Given the description of an element on the screen output the (x, y) to click on. 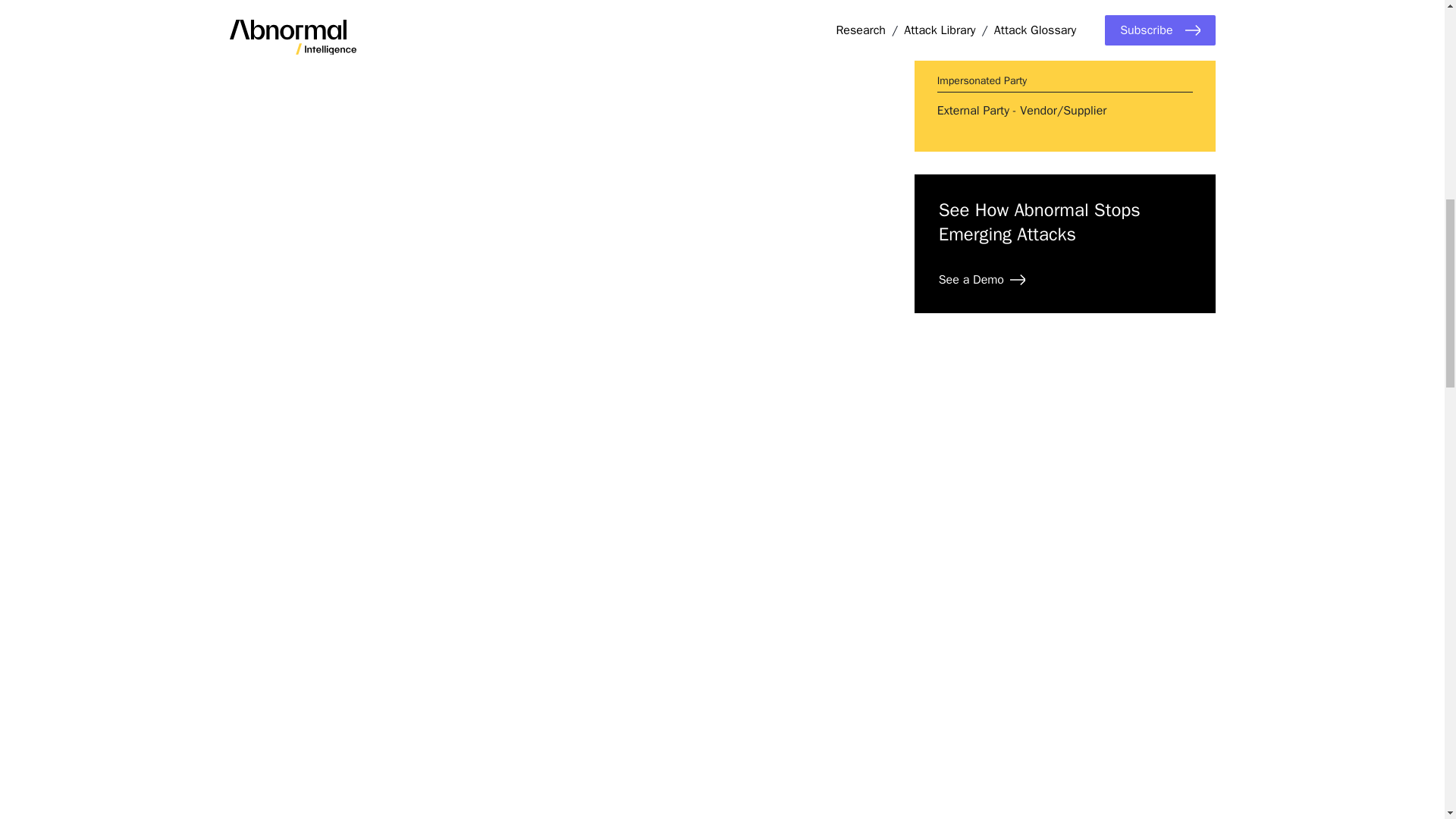
See a Demo (982, 280)
